Given the description of an element on the screen output the (x, y) to click on. 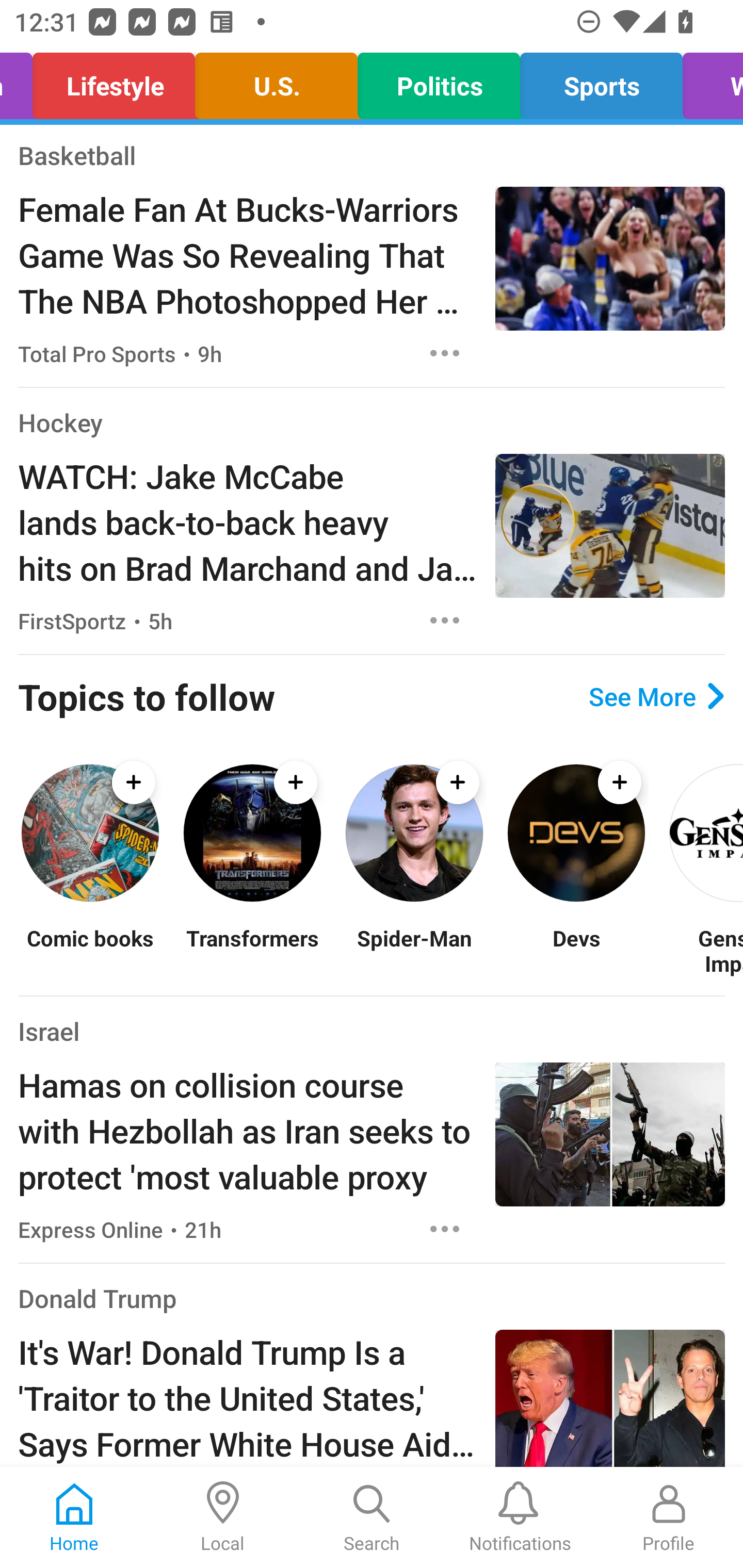
Lifestyle (113, 81)
U.S. (276, 81)
Politics (438, 81)
Sports (600, 81)
Basketball (76, 154)
Options (444, 353)
Hockey (60, 422)
Options (444, 620)
See More (656, 695)
Comic books (89, 950)
Transformers (251, 950)
Spider-Man (413, 950)
Devs (575, 950)
Israel (48, 1030)
Options (444, 1229)
Donald Trump (97, 1298)
Local (222, 1517)
Search (371, 1517)
Notifications (519, 1517)
Profile (668, 1517)
